Given the description of an element on the screen output the (x, y) to click on. 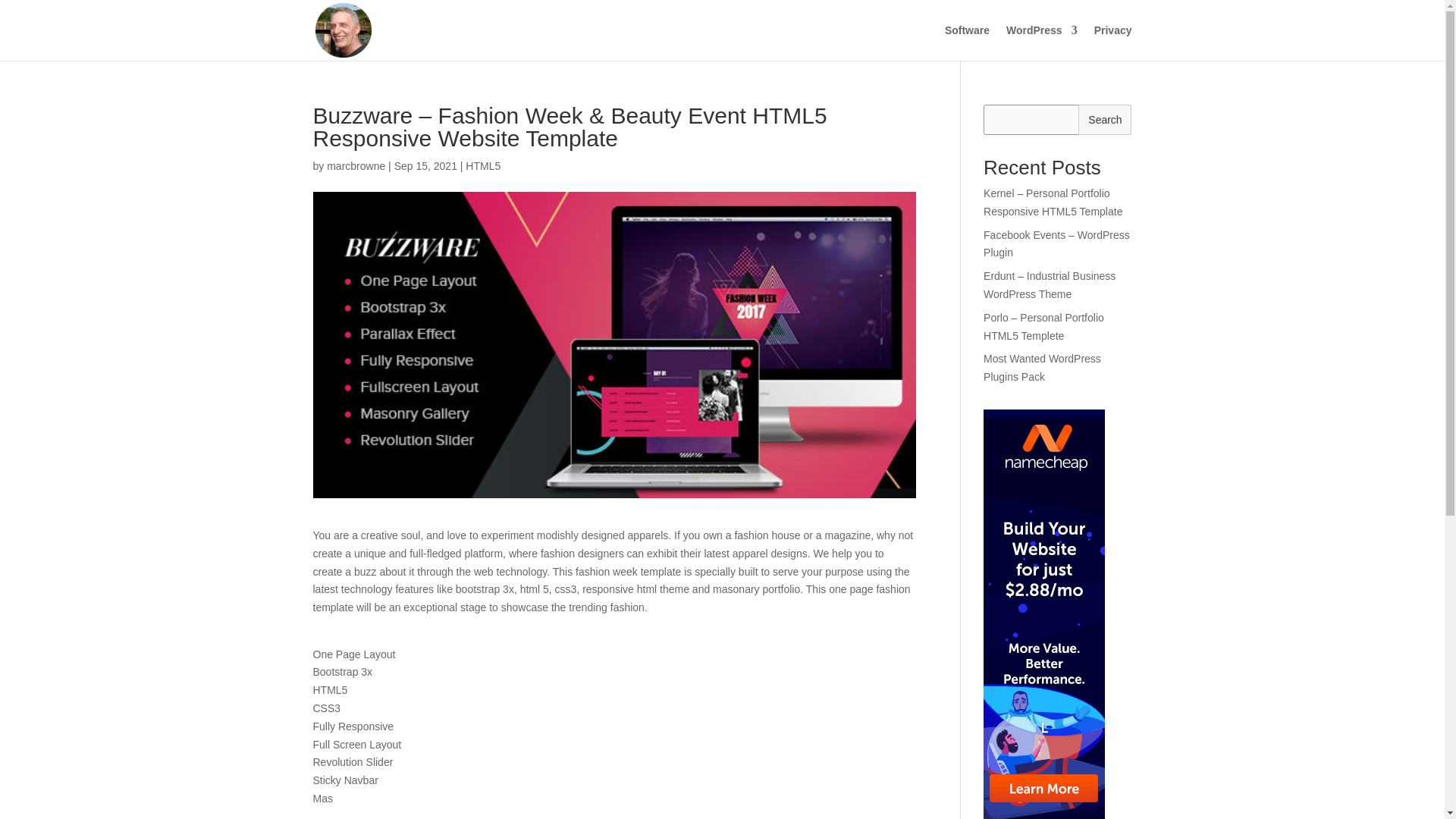
Software (967, 42)
Search (1104, 119)
WordPress (1041, 42)
marcbrowne (355, 165)
HTML5 (482, 165)
Posts by marcbrowne (355, 165)
Most Wanted WordPress Plugins Pack (1042, 367)
Privacy (1113, 42)
